Given the description of an element on the screen output the (x, y) to click on. 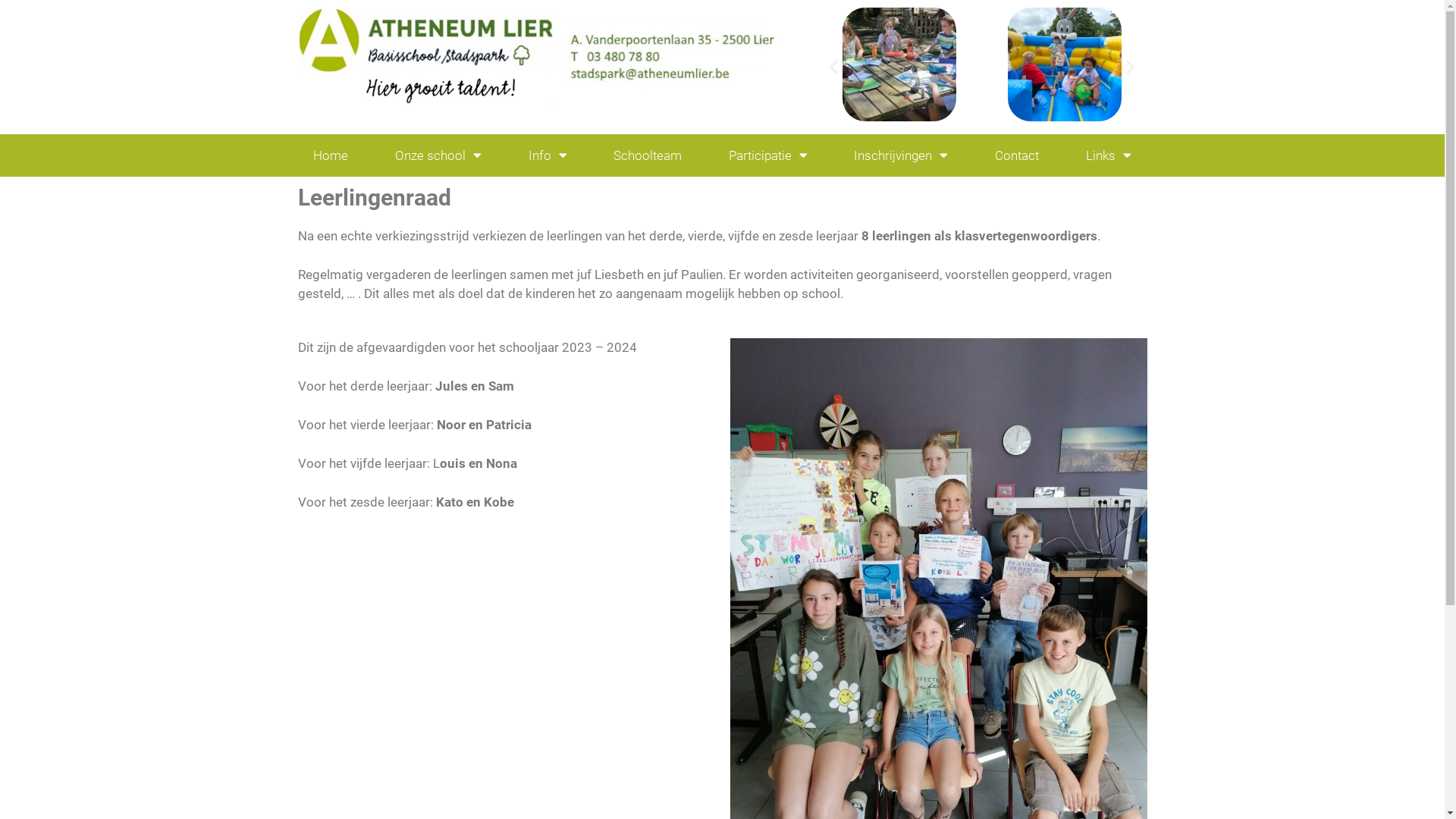
Schoolteam Element type: text (647, 155)
Contact Element type: text (1016, 155)
Info Element type: text (547, 155)
Links Element type: text (1108, 155)
Inschrijvingen Element type: text (901, 155)
Participatie Element type: text (768, 155)
Onze school Element type: text (438, 155)
Home Element type: text (330, 155)
